Given the description of an element on the screen output the (x, y) to click on. 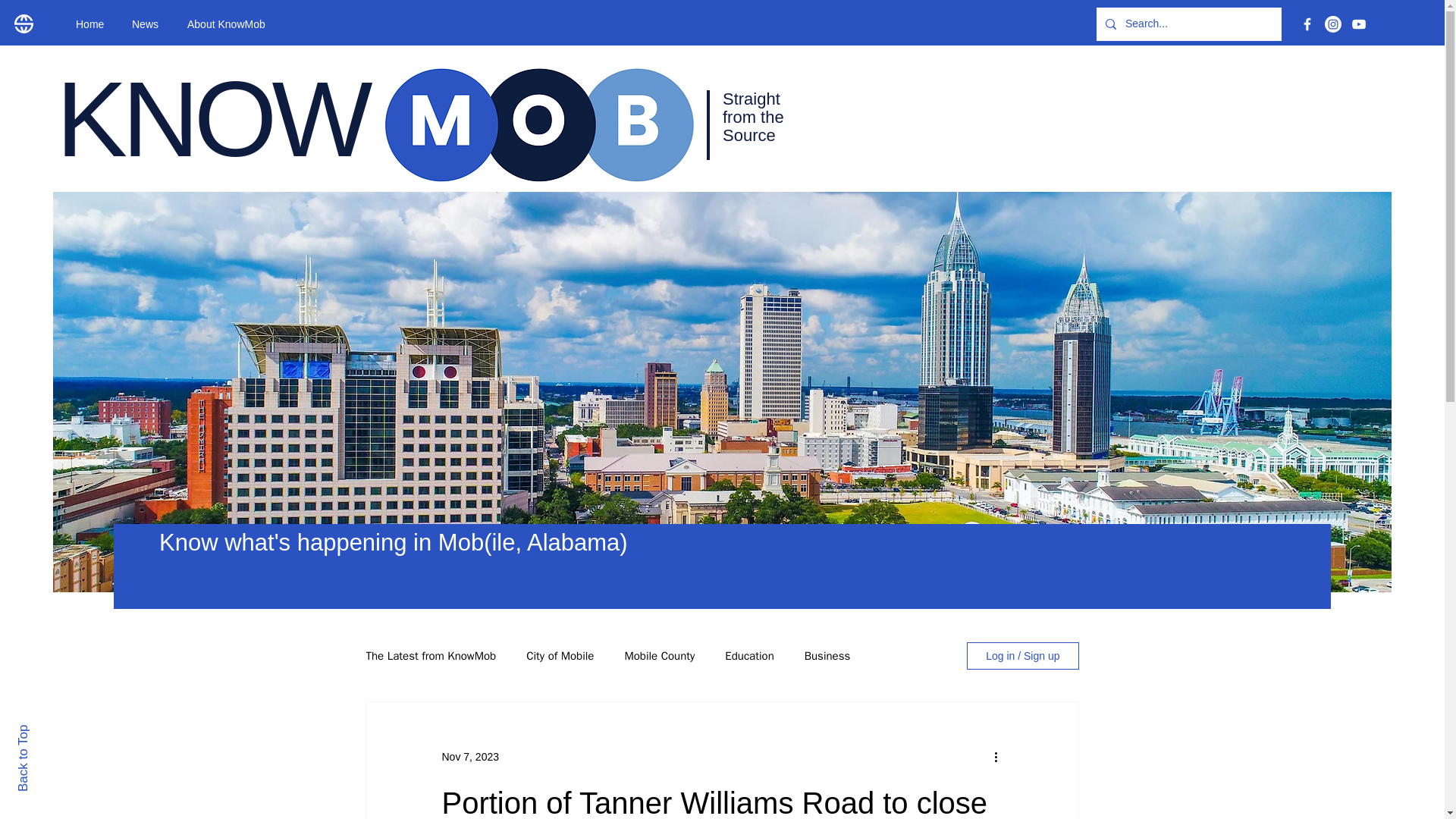
City of Mobile (559, 656)
Nov 7, 2023 (470, 756)
Home (92, 24)
About KnowMob (234, 24)
Back to Top (49, 730)
Education (749, 656)
KNOW (211, 118)
Mobile County (659, 656)
The Latest from KnowMob (430, 656)
Business (827, 656)
News (148, 24)
